Given the description of an element on the screen output the (x, y) to click on. 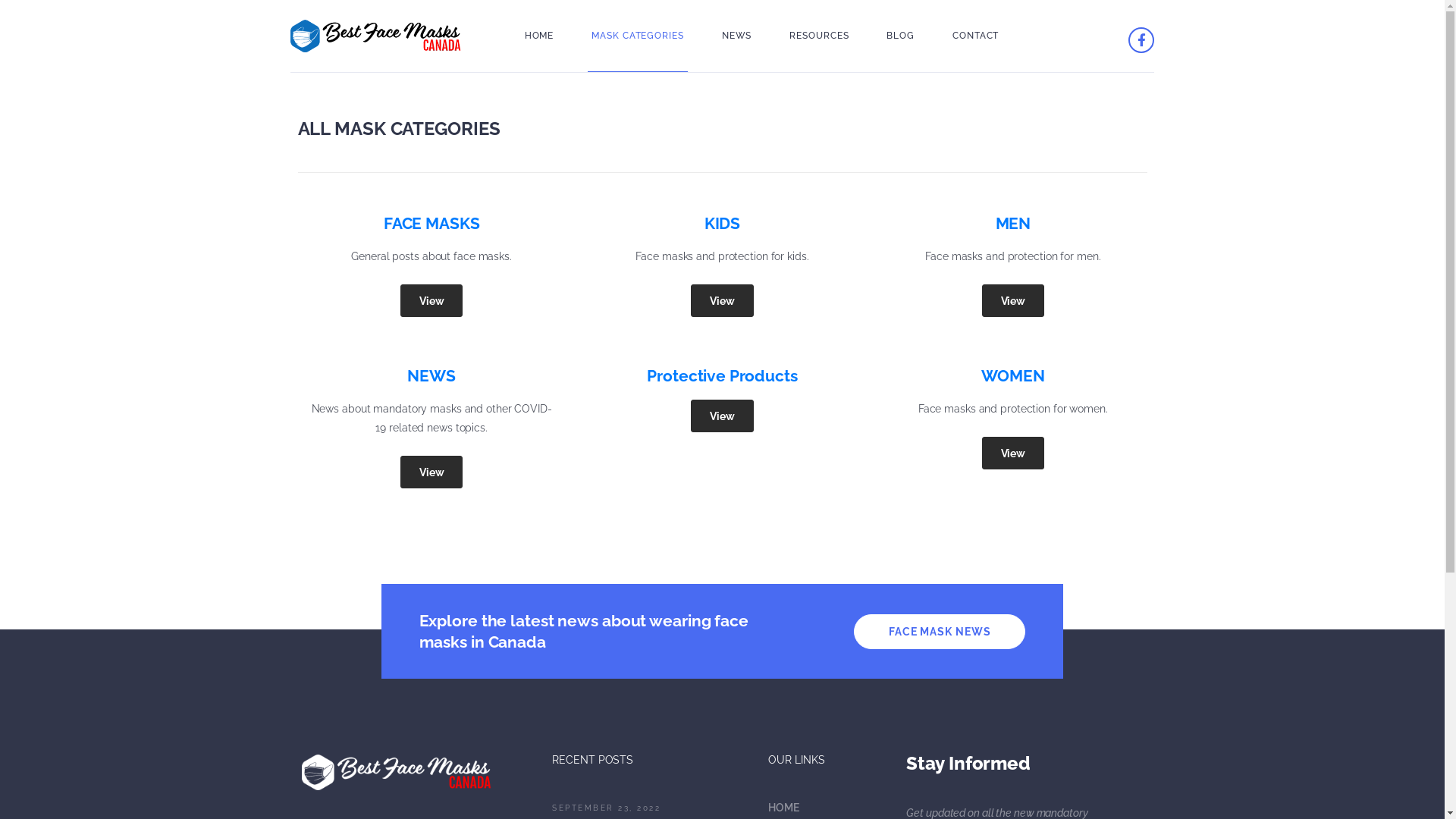
HOME Element type: text (539, 36)
FACE MASKS Element type: text (431, 222)
CONTACT Element type: text (975, 36)
HOME Element type: text (825, 807)
RESOURCES Element type: text (818, 36)
FACE MASK NEWS Element type: text (939, 631)
View Element type: text (721, 300)
Protective Products Element type: text (721, 375)
NEWS Element type: text (737, 36)
View Element type: text (1013, 452)
View Element type: text (431, 471)
BLOG Element type: text (900, 36)
WOMEN Element type: text (1012, 375)
MEN Element type: text (1013, 222)
SEPTEMBER 23, 2022 Element type: text (606, 807)
View Element type: text (1013, 300)
KIDS Element type: text (722, 222)
View Element type: text (431, 300)
View Element type: text (721, 415)
MASK CATEGORIES Element type: text (637, 36)
NEWS Element type: text (431, 375)
